Given the description of an element on the screen output the (x, y) to click on. 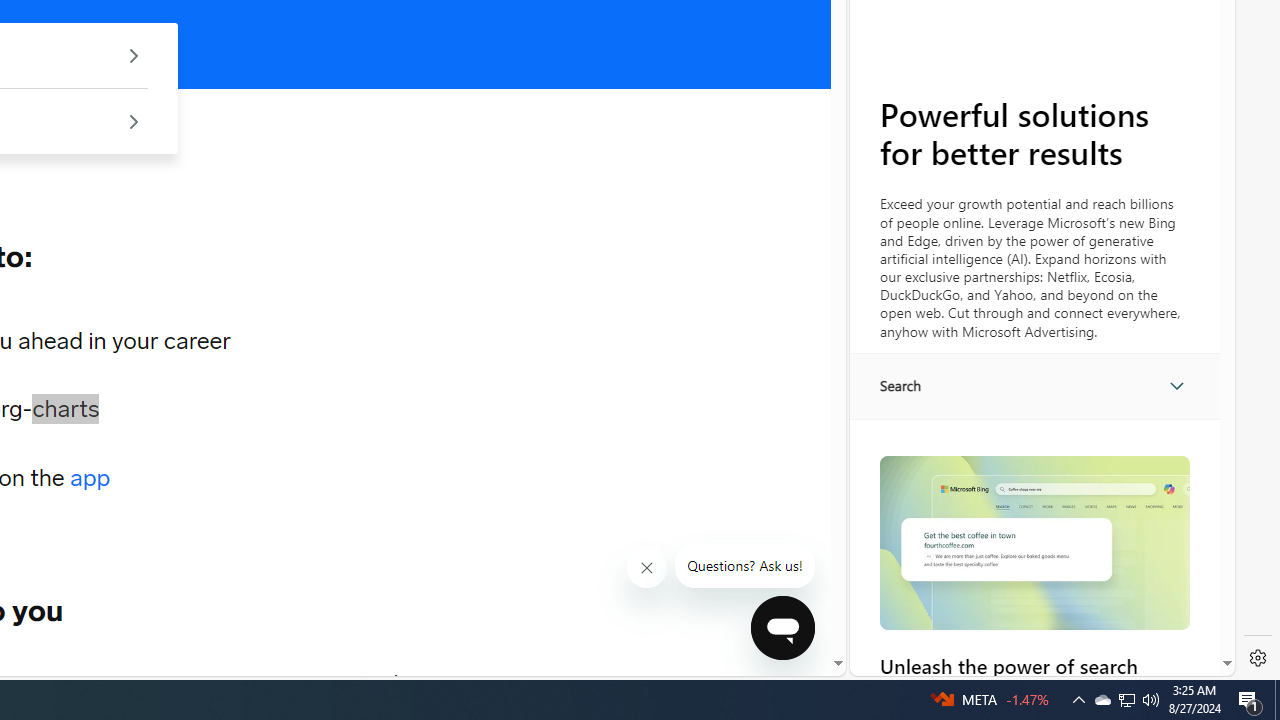
Open messaging window (783, 628)
AutomationID: search (1034, 385)
Open in New Tab (1042, 631)
Close message from company (647, 567)
Class: sc-1k07fow-1 cbnSms (782, 627)
app (90, 477)
